Given the description of an element on the screen output the (x, y) to click on. 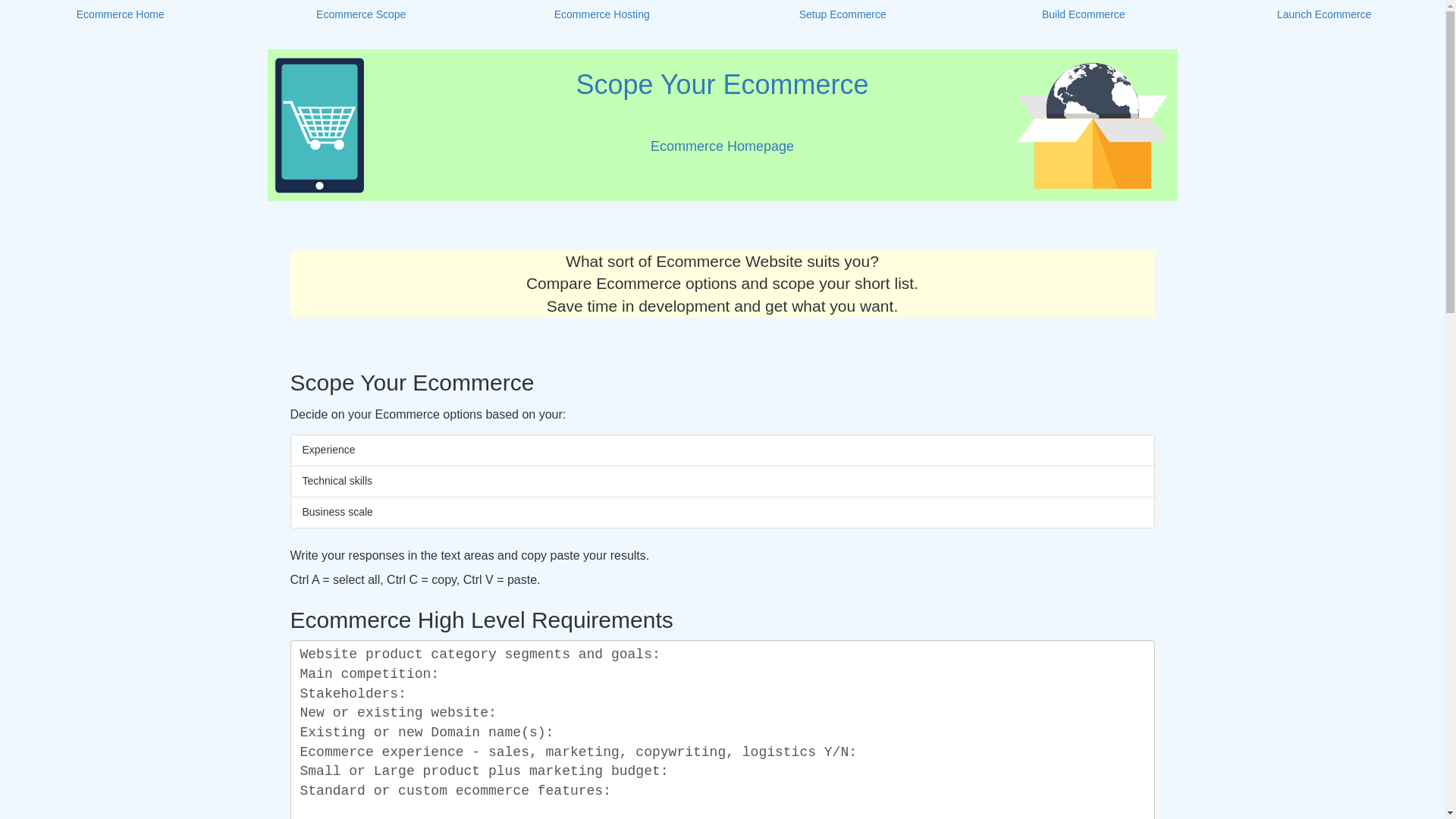
Scope Your Ecommerce (721, 83)
Ecommerce Scope (361, 15)
Ecommerce Hosting (601, 15)
Setup Ecommerce (842, 15)
Ecommerce Home (120, 15)
Ecommerce Homepage (721, 145)
Build Ecommerce (1083, 15)
